Given the description of an element on the screen output the (x, y) to click on. 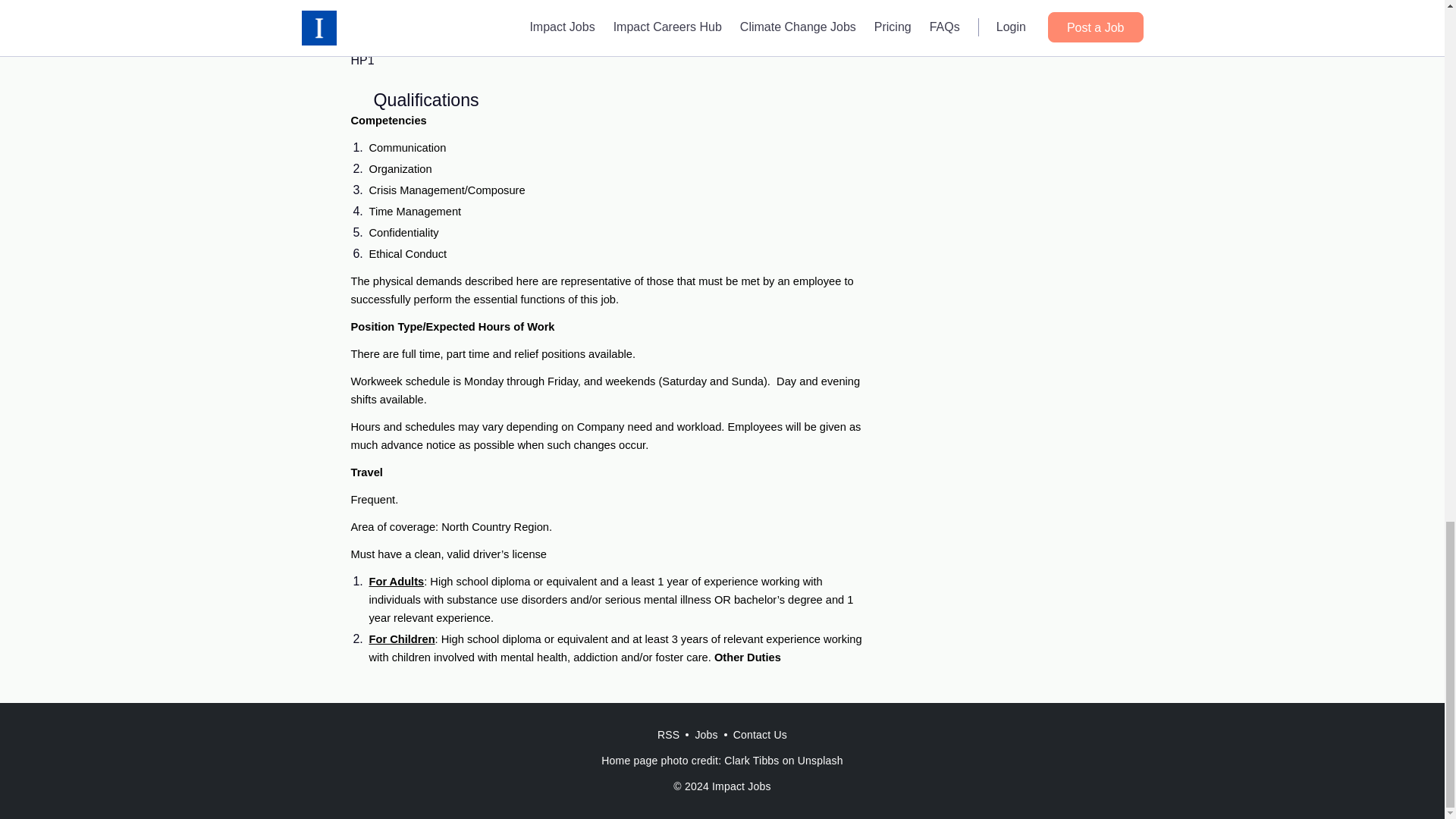
Clark Tibbs (750, 760)
Jobs (706, 734)
Unsplash (820, 760)
Contact Us (759, 734)
RSS (668, 734)
